Given the description of an element on the screen output the (x, y) to click on. 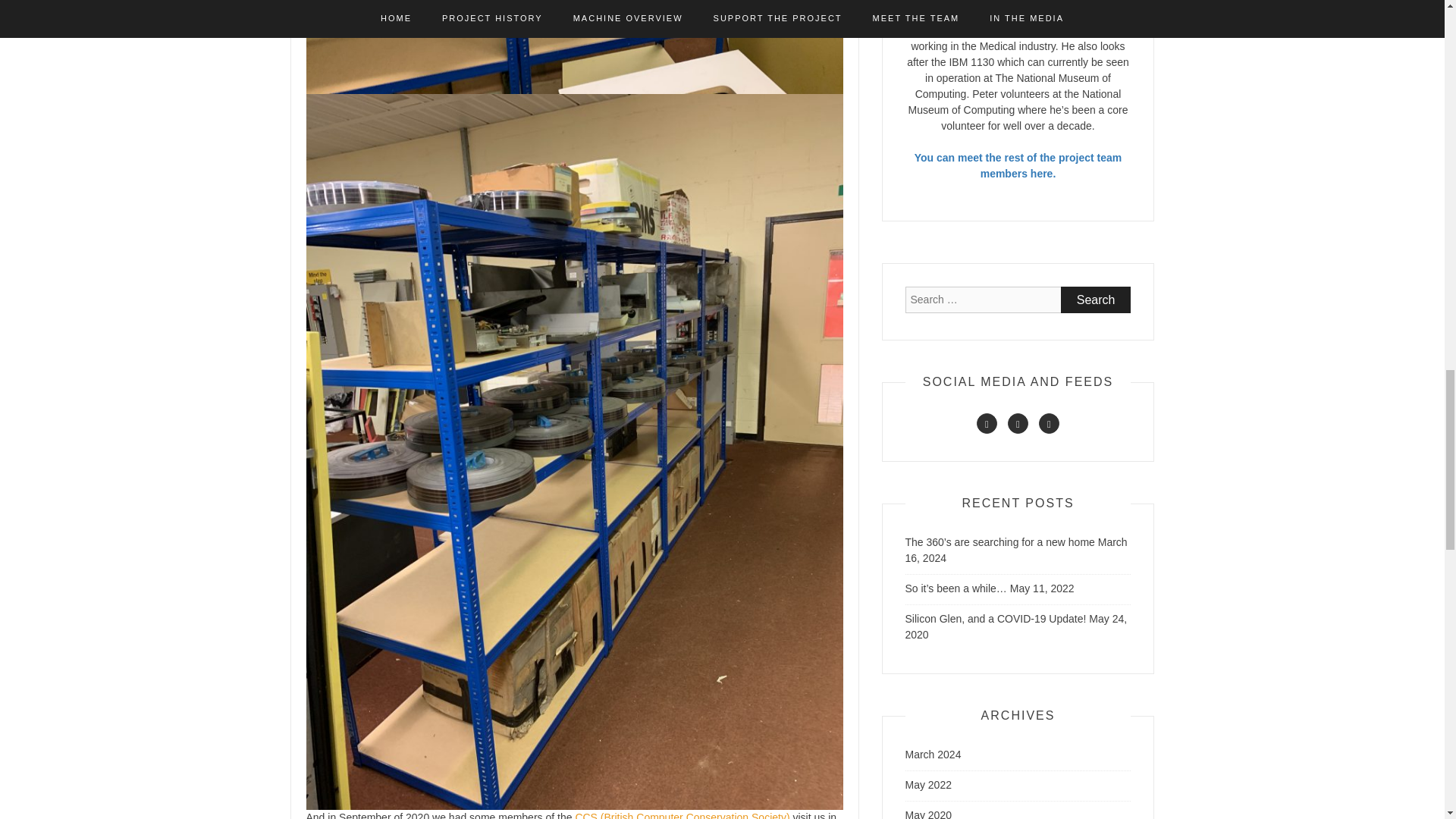
You can meet the rest of the project team members here. (1018, 165)
March 2024 (932, 754)
Silicon Glen, and a COVID-19 Update! (995, 618)
May 2020 (928, 814)
Youtube (1049, 423)
May 2022 (928, 784)
Search (1096, 299)
Twitter Feed (1017, 423)
Search (1096, 299)
RSS (986, 423)
